Given the description of an element on the screen output the (x, y) to click on. 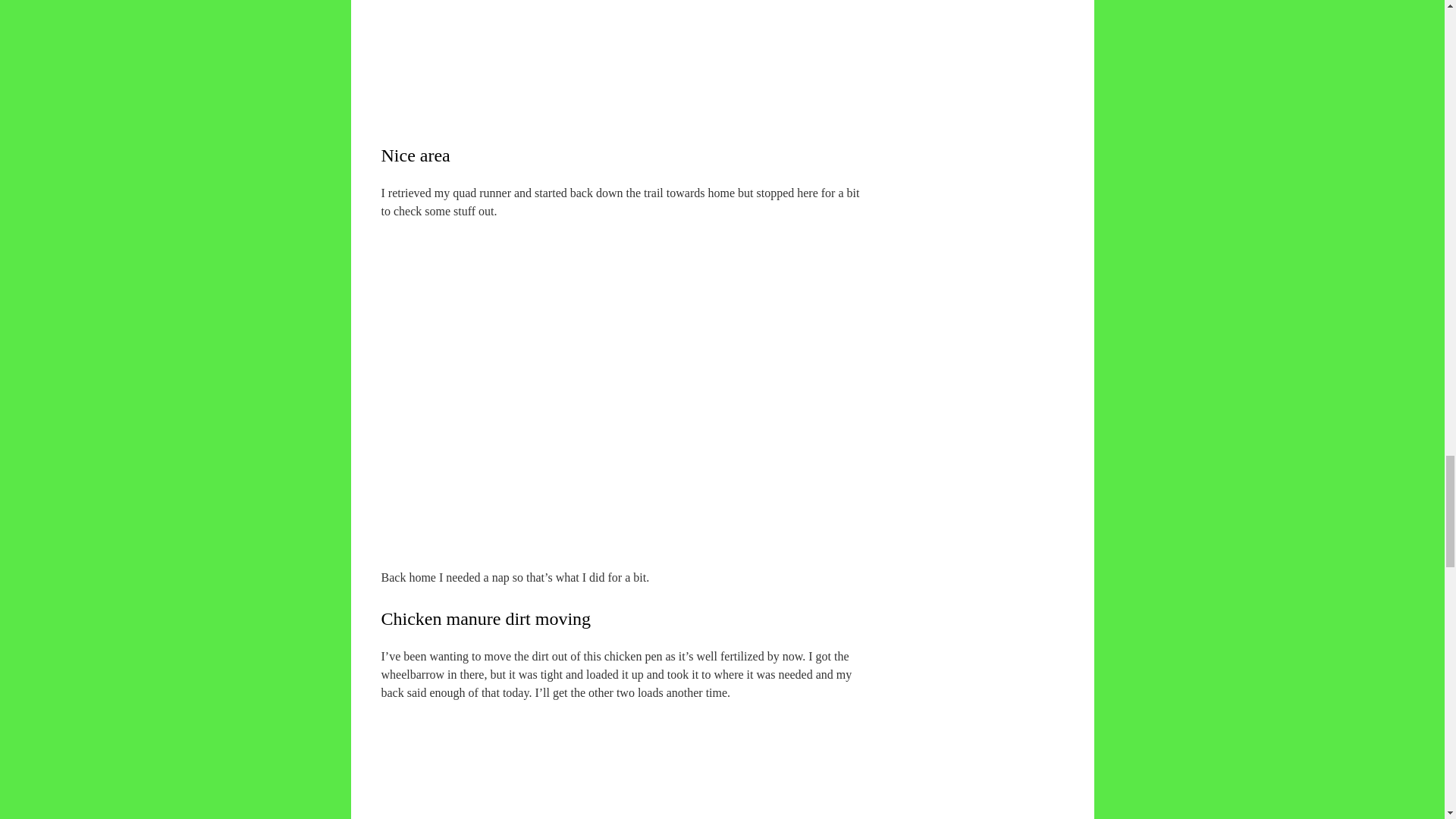
pen7 (630, 760)
woods5 (630, 40)
